Given the description of an element on the screen output the (x, y) to click on. 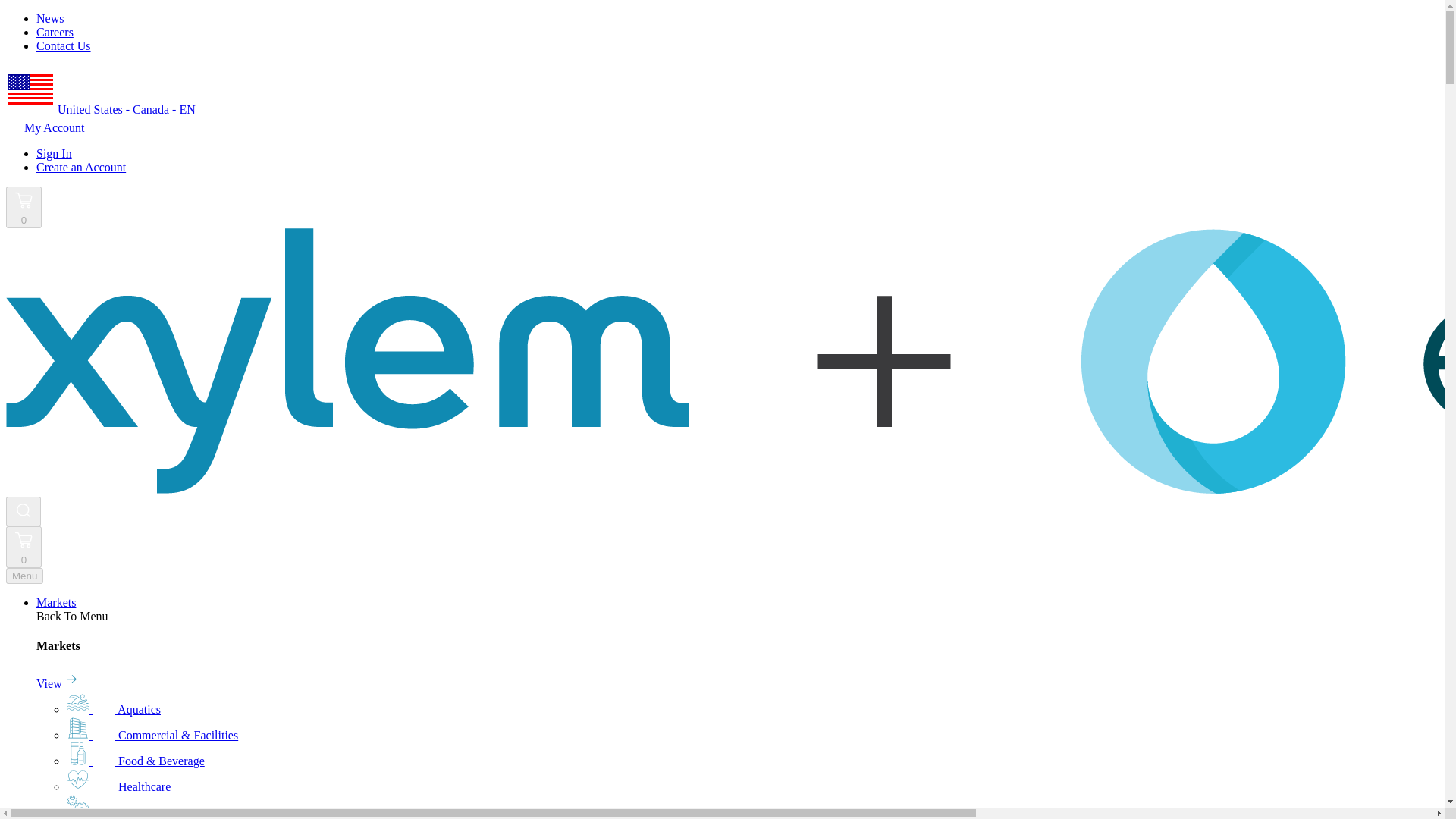
Create an Account (80, 166)
News (50, 18)
View (58, 683)
Careers (55, 31)
Markets (55, 602)
Menu (24, 575)
Aquatics (113, 708)
General Industry (133, 812)
Healthcare (118, 786)
Sign In (53, 153)
United States - Canada - EN (100, 109)
Contact Us (63, 45)
My Account (44, 127)
